Given the description of an element on the screen output the (x, y) to click on. 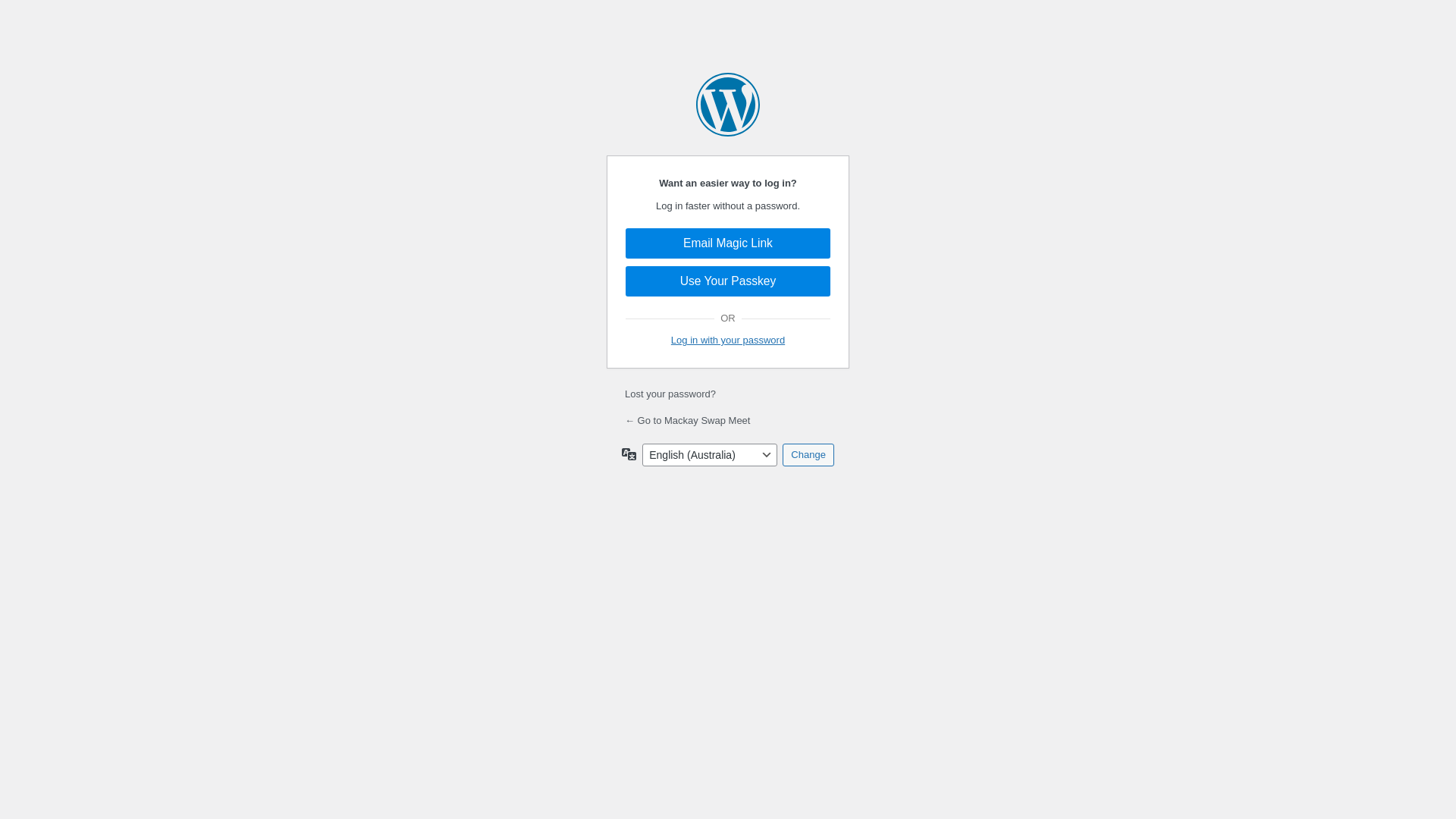
Powered by WordPress Element type: text (727, 104)
Email Magic Link Element type: text (727, 243)
Log in with your password Element type: text (727, 339)
Change Element type: text (808, 454)
Lost your password? Element type: text (669, 393)
Use Your Passkey Element type: text (727, 281)
